Given the description of an element on the screen output the (x, y) to click on. 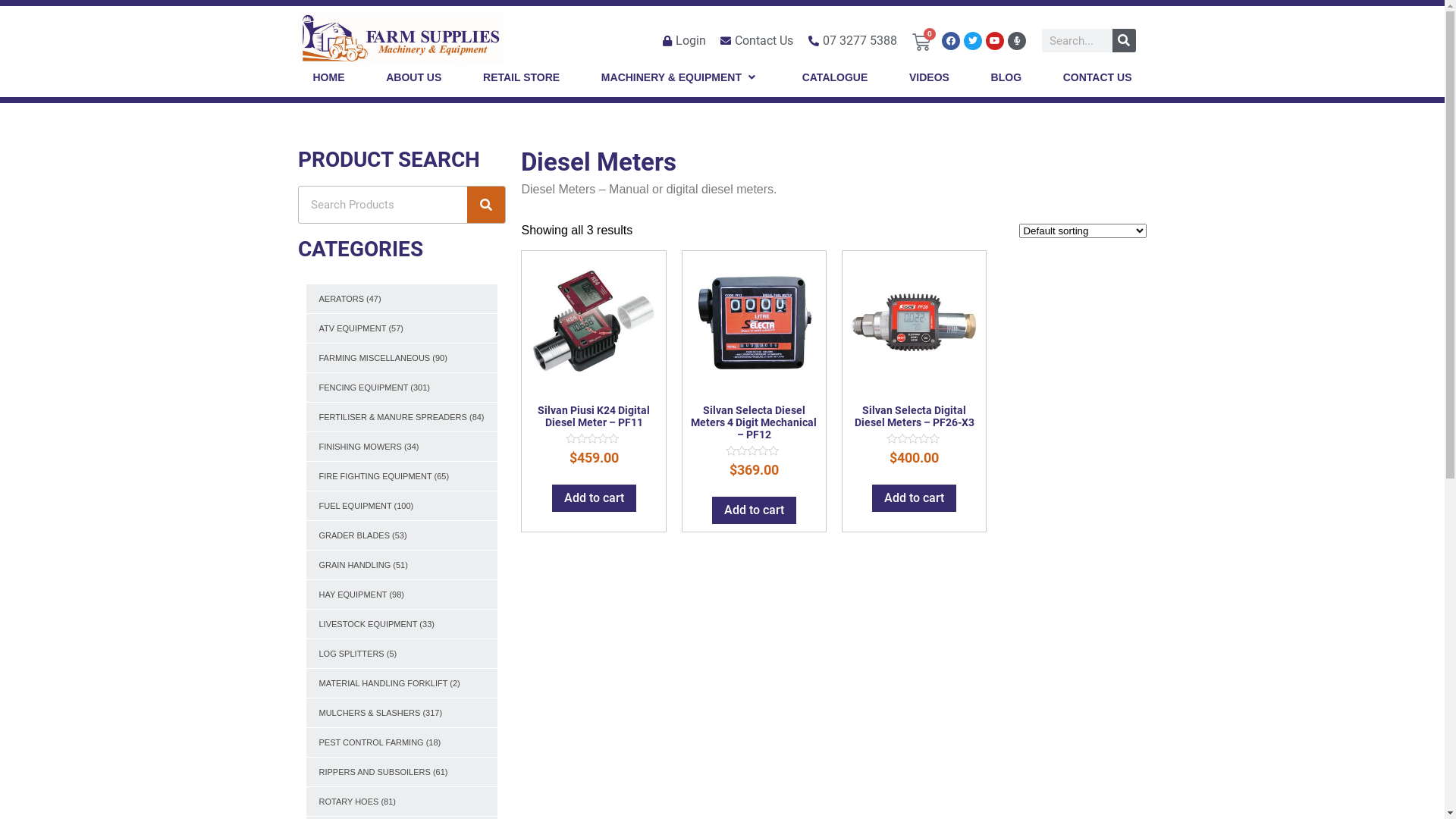
RIPPERS AND SUBSOILERS Element type: text (373, 771)
VIDEOS Element type: text (929, 77)
Login Element type: text (682, 40)
MACHINERY & EQUIPMENT Element type: text (672, 77)
PEST CONTROL FARMING Element type: text (370, 741)
Contact Us Element type: text (755, 40)
FINISHING MOWERS Element type: text (359, 446)
FIRE FIGHTING EQUIPMENT Element type: text (374, 475)
GRADER BLADES Element type: text (353, 534)
0 Element type: text (921, 39)
GRAIN HANDLING Element type: text (354, 564)
BLOG Element type: text (1006, 77)
RETAIL STORE Element type: text (521, 77)
FENCING EQUIPMENT Element type: text (362, 387)
Add to cart Element type: text (914, 497)
HAY EQUIPMENT Element type: text (352, 594)
LOG SPLITTERS Element type: text (350, 653)
LIVESTOCK EQUIPMENT Element type: text (367, 623)
07 3277 5388 Element type: text (851, 40)
FARMING MISCELLANEOUS Element type: text (373, 357)
CATALOGUE Element type: text (835, 77)
Add to cart Element type: text (754, 510)
CONTACT US Element type: text (1097, 77)
MULCHERS & SLASHERS Element type: text (369, 712)
ABOUT US Element type: text (413, 77)
HOME Element type: text (328, 77)
Add to cart Element type: text (594, 497)
FUEL EQUIPMENT Element type: text (354, 505)
ROTARY HOES Element type: text (348, 801)
FERTILISER & MANURE SPREADERS Element type: text (392, 416)
AERATORS Element type: text (341, 298)
ATV EQUIPMENT Element type: text (351, 327)
MATERIAL HANDLING FORKLIFT Element type: text (382, 682)
